Given the description of an element on the screen output the (x, y) to click on. 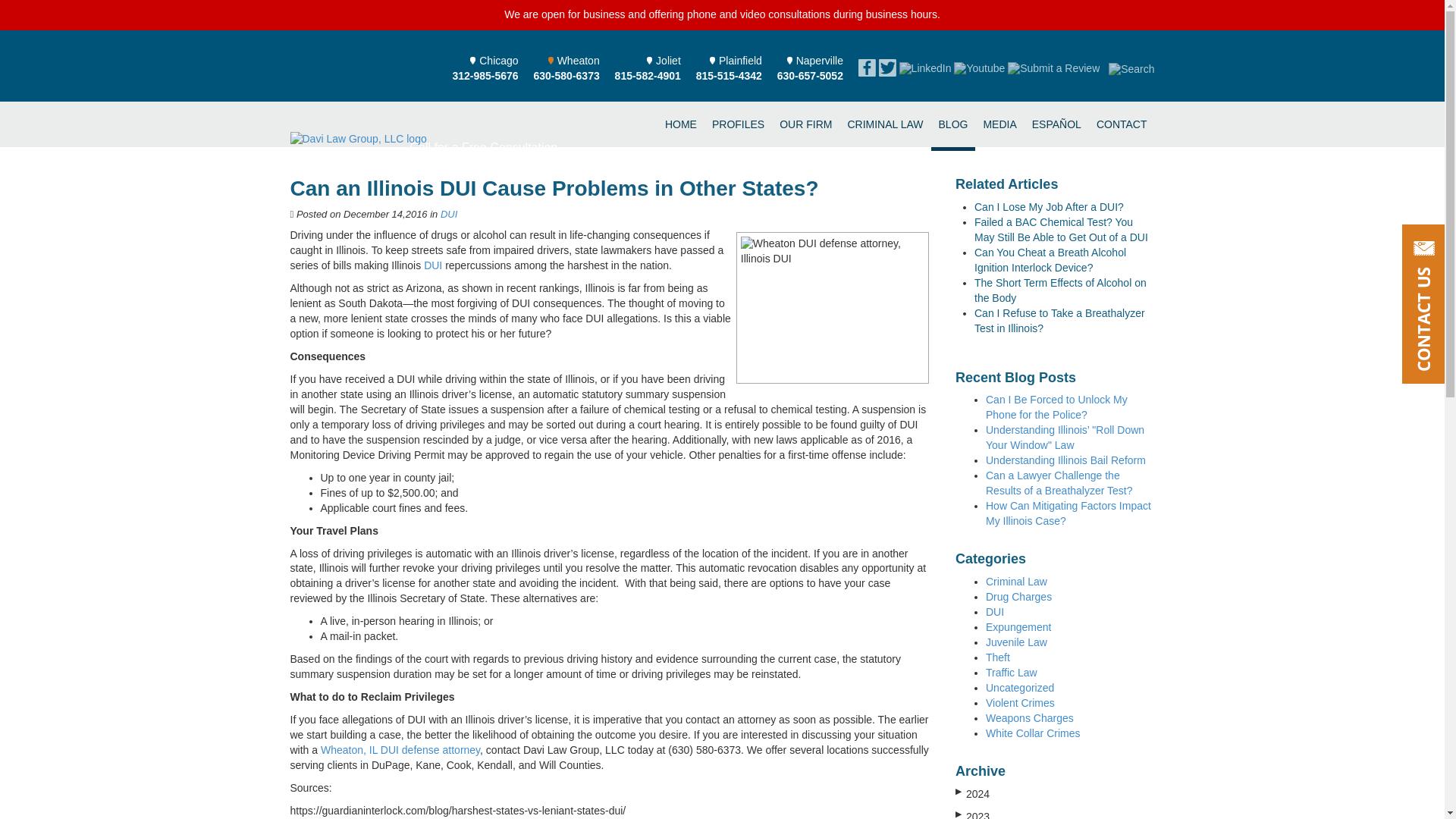
PROFILES (566, 67)
HOME (737, 124)
OUR FIRM (681, 124)
CRIMINAL LAW (484, 67)
